Given the description of an element on the screen output the (x, y) to click on. 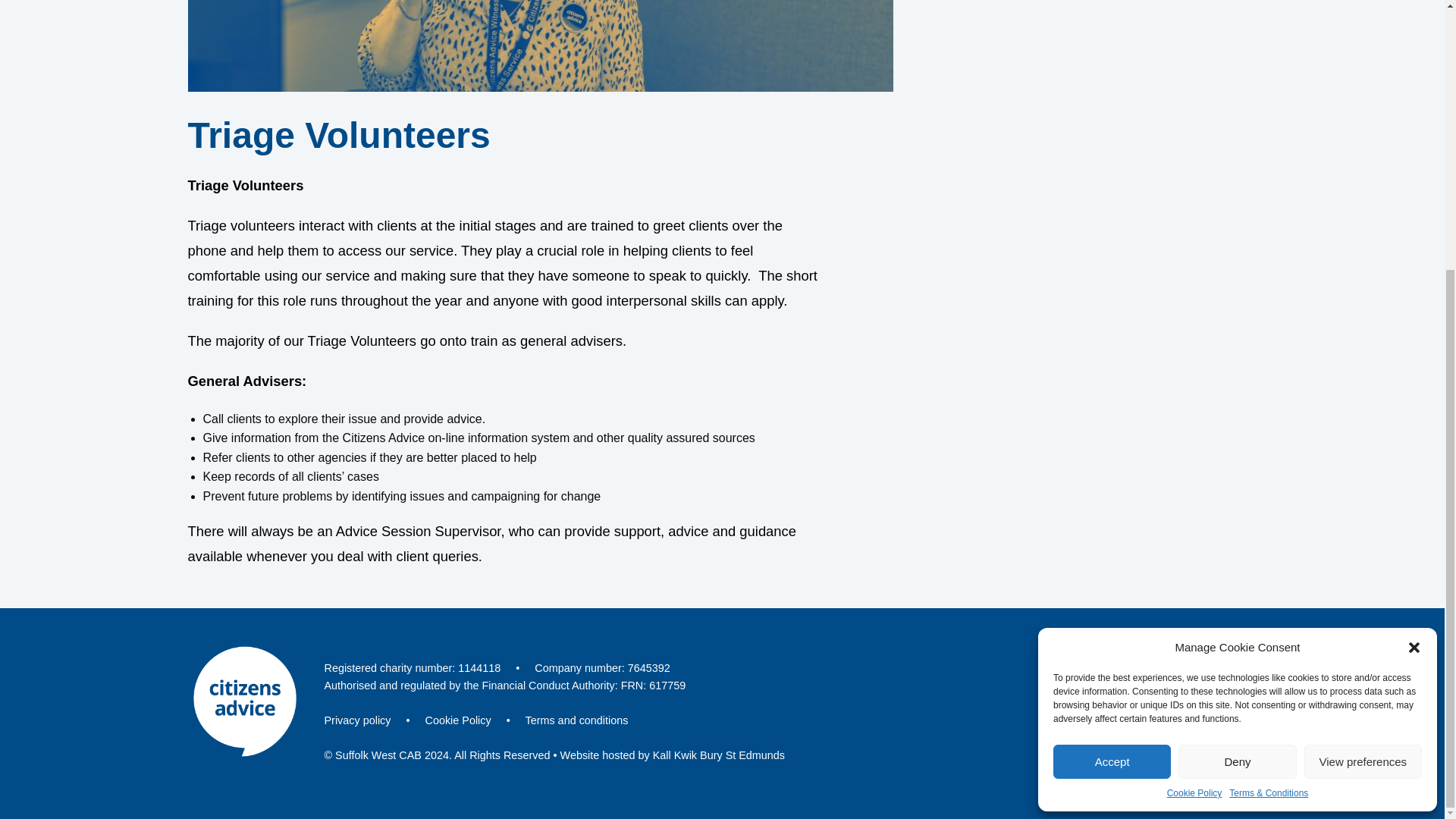
View preferences (1363, 367)
Cookie Policy (1195, 398)
Deny (1236, 367)
Accept (1111, 367)
